Given the description of an element on the screen output the (x, y) to click on. 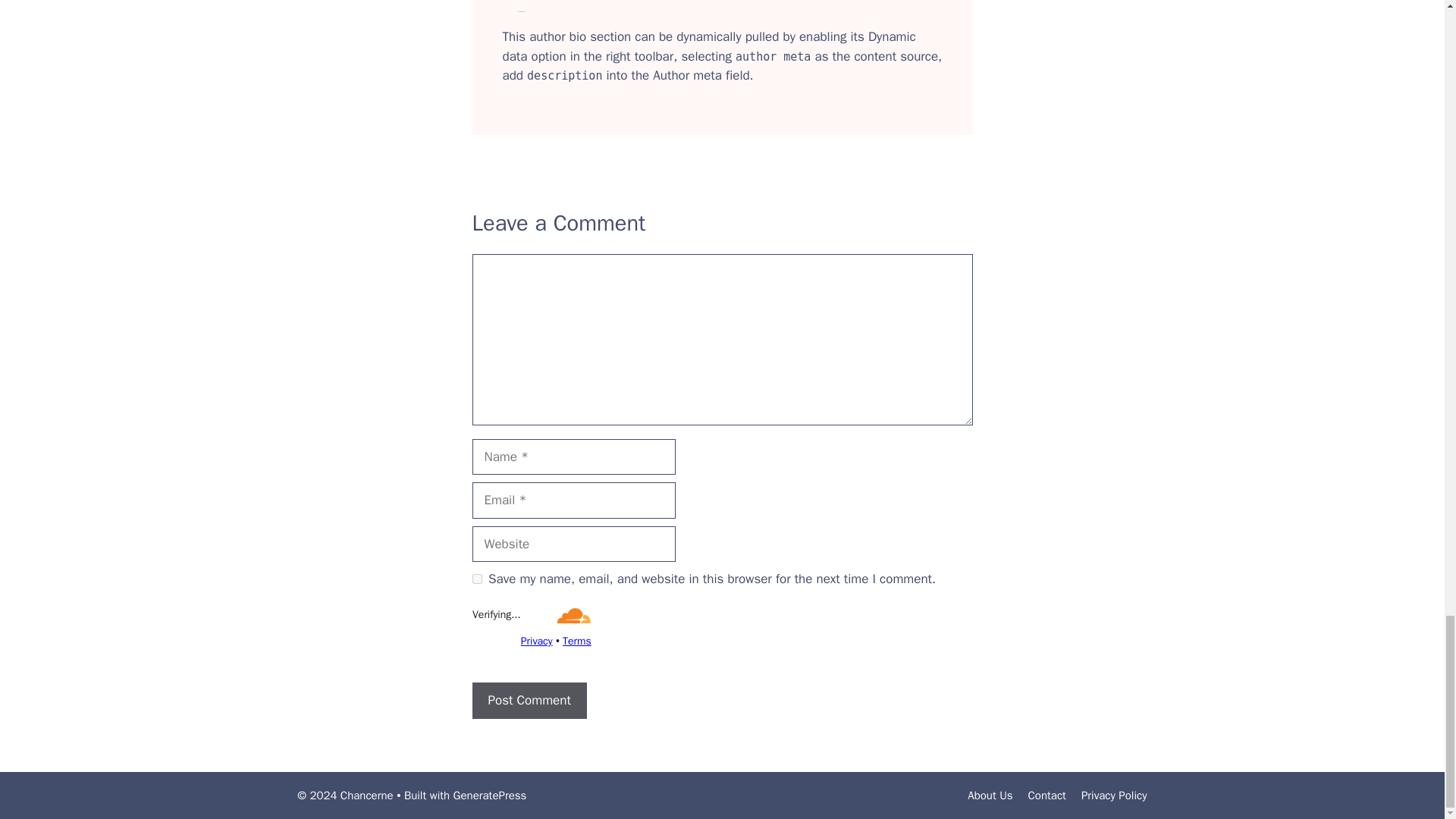
Post Comment (528, 700)
About Us (989, 795)
Privacy Policy (1114, 795)
Post Comment (528, 700)
yes (476, 578)
GeneratePress (489, 795)
Contact (1046, 795)
